Given the description of an element on the screen output the (x, y) to click on. 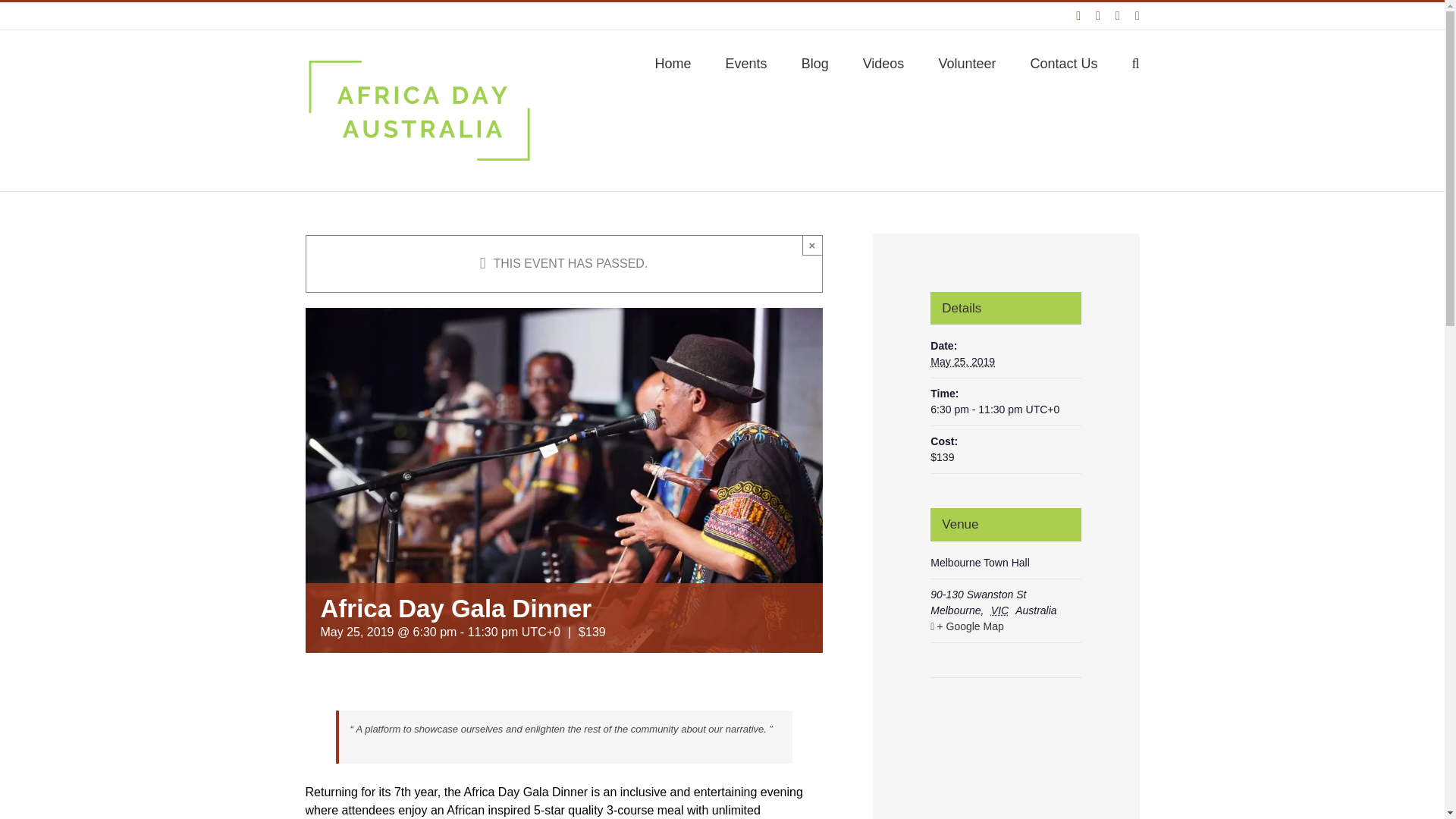
Contact Us (1063, 62)
Twitter (1137, 15)
Instagram (1098, 15)
YouTube (1117, 15)
Videos (883, 62)
Blog (815, 62)
Volunteer (966, 62)
Search (1134, 62)
Facebook (1077, 15)
Home (673, 62)
Events (746, 62)
